Given the description of an element on the screen output the (x, y) to click on. 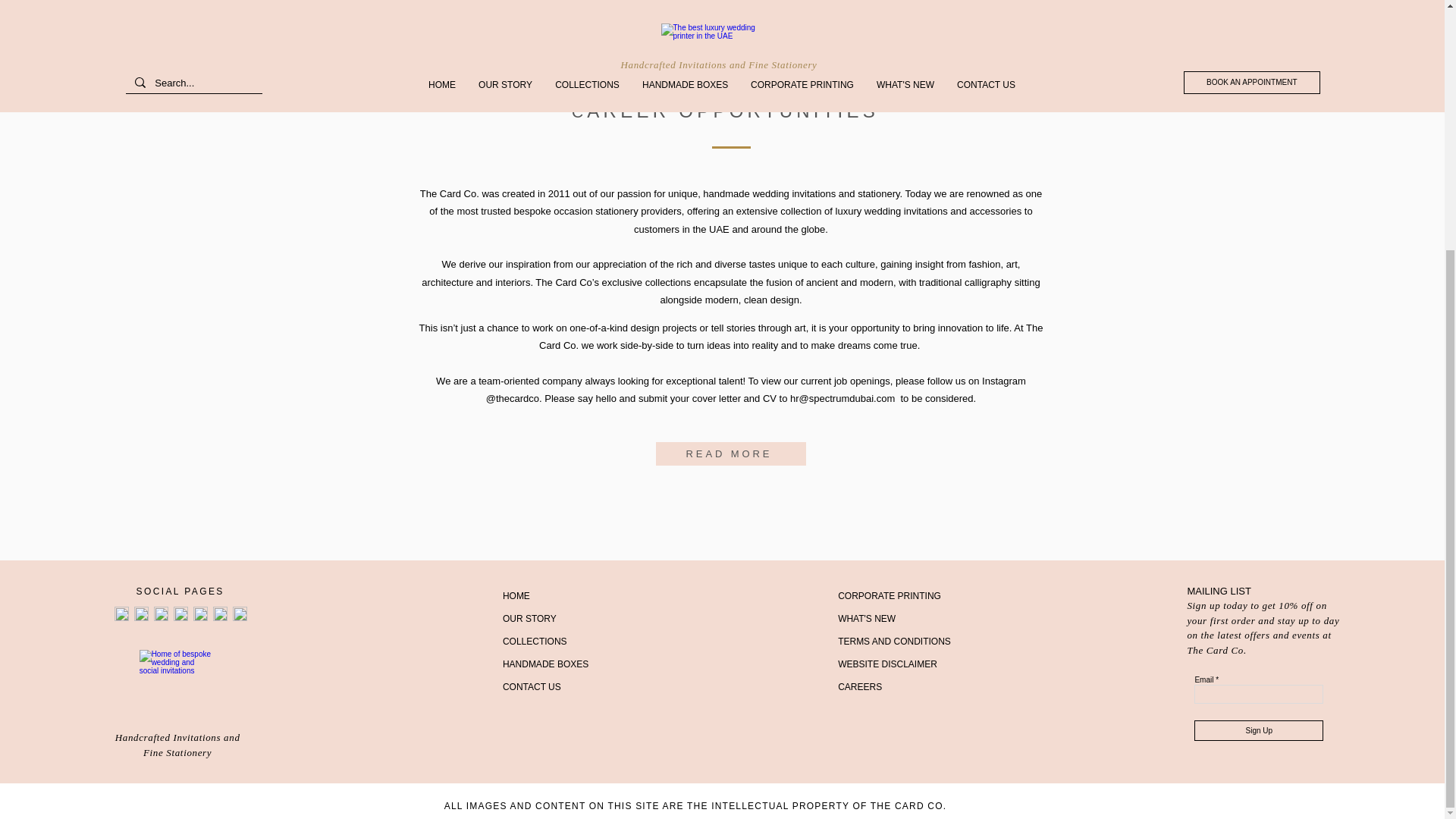
CAREERS (860, 686)
SOCIAL PAGES (180, 591)
HOME (515, 595)
COLLECTIONS (534, 641)
OUR STORY (529, 618)
WHAT'S NEW (866, 618)
WEBSITE DISCLAIMER (887, 664)
TERMS AND CONDITIONS (894, 641)
CORPORATE PRINTING (889, 595)
READ MORE (730, 454)
